Given the description of an element on the screen output the (x, y) to click on. 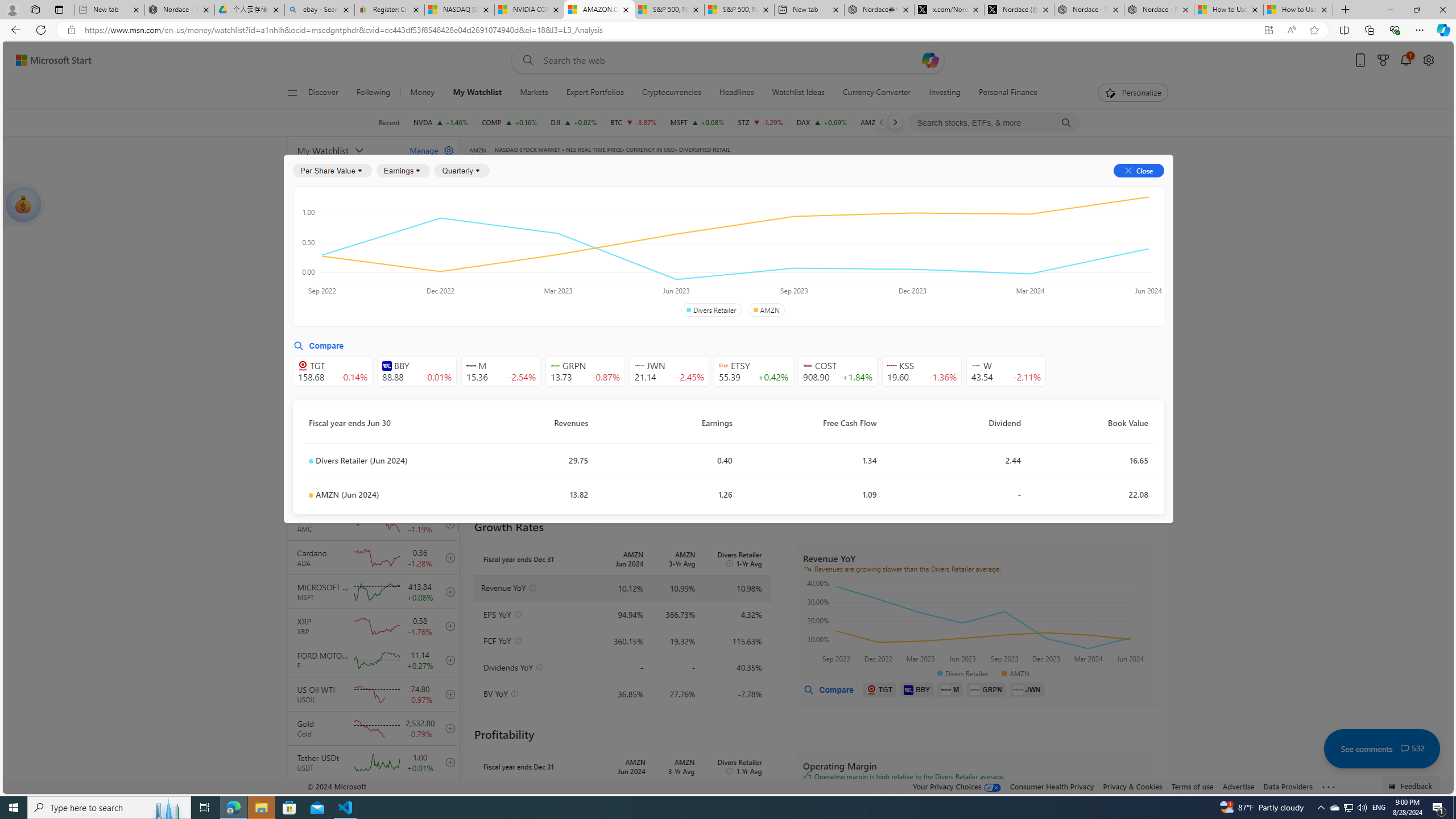
Cryptocurrencies (670, 92)
Per Share Value (331, 170)
Enter your search term (730, 59)
Balance Sheet (614, 223)
STZ CONSTELLATION BRANDS, INC. decrease 239.98 -3.13 -1.29% (760, 122)
Class: imagIcon-DS-EntryPoint1-1 (1018, 689)
Headlines (736, 92)
Personal Finance (1003, 92)
Class: button-glyph (292, 92)
Data Providers (1288, 785)
